Given the description of an element on the screen output the (x, y) to click on. 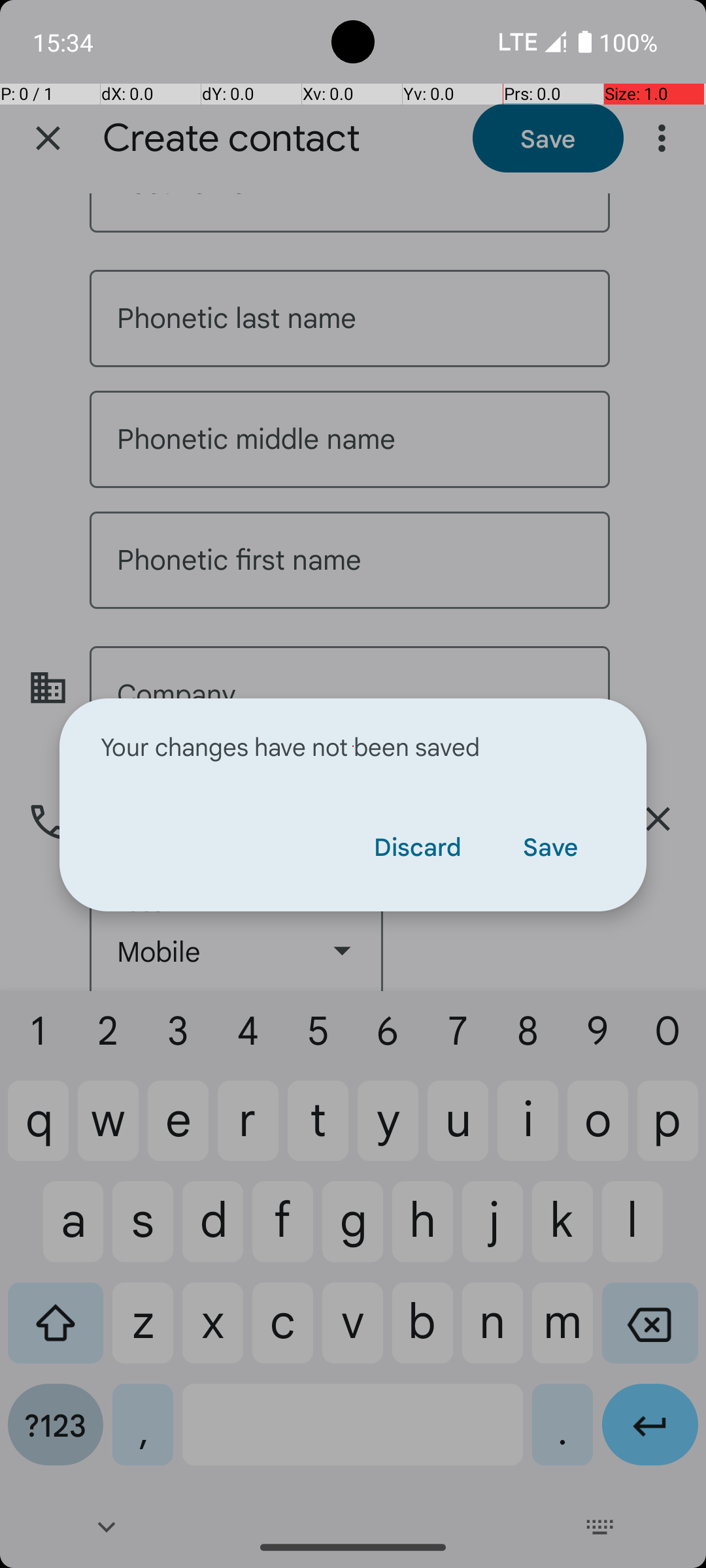
Your changes have not been saved Element type: android.widget.TextView (352, 746)
Discard Element type: android.widget.Button (416, 845)
